Given the description of an element on the screen output the (x, y) to click on. 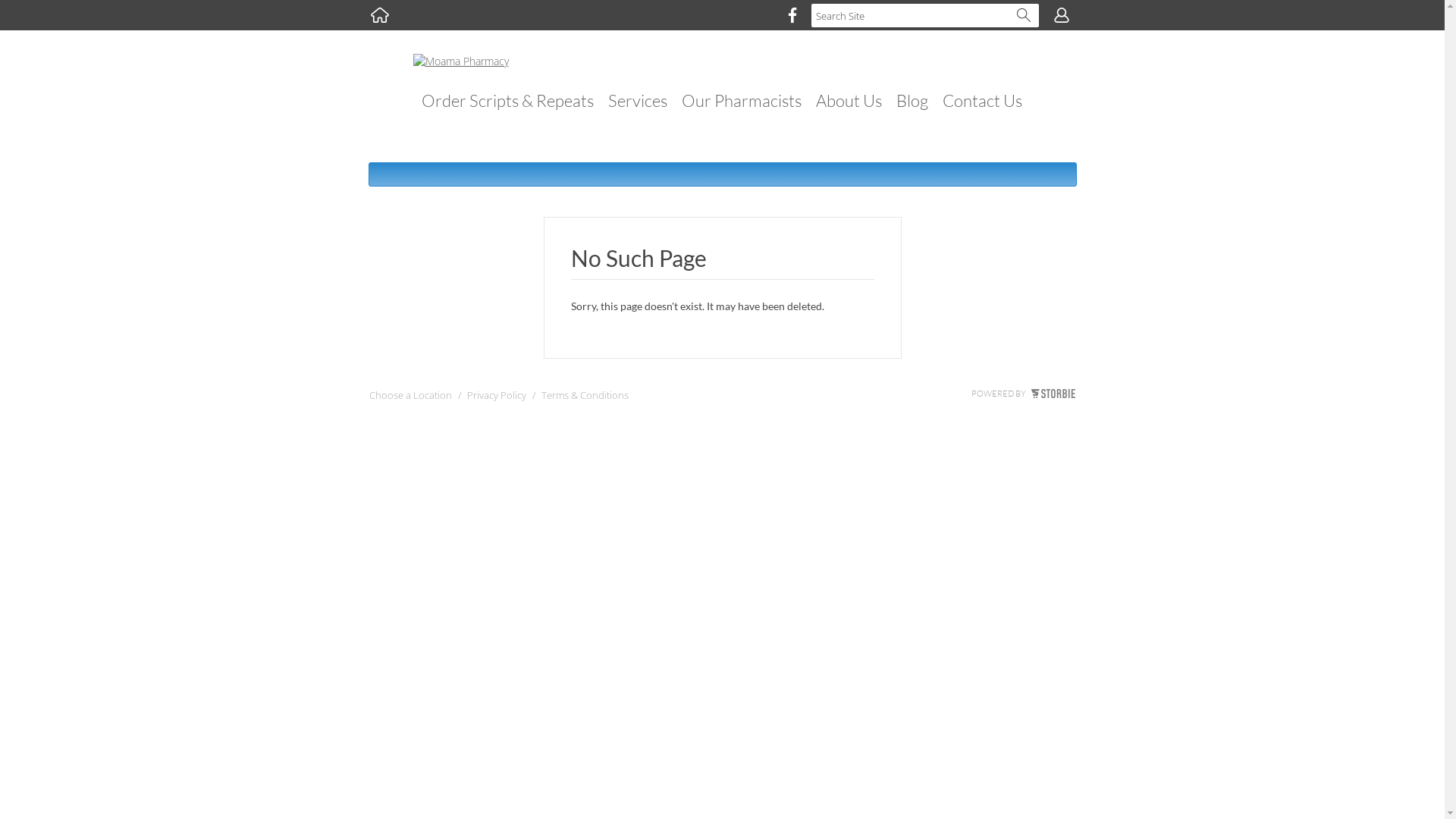
Home Element type: hover (379, 15)
Profile Element type: hover (1061, 15)
Terms & Conditions Element type: text (584, 398)
Contact Us Element type: text (982, 100)
POWERED BY Element type: text (1022, 393)
Facebook Element type: hover (791, 15)
Choose a Location Element type: text (409, 398)
Our Pharmacists Element type: text (741, 100)
Blog Element type: text (912, 100)
About Us Element type: text (848, 100)
  Element type: text (379, 15)
Order Scripts & Repeats Element type: text (507, 100)
Services Element type: text (637, 100)
Privacy Policy Element type: text (496, 398)
